Given the description of an element on the screen output the (x, y) to click on. 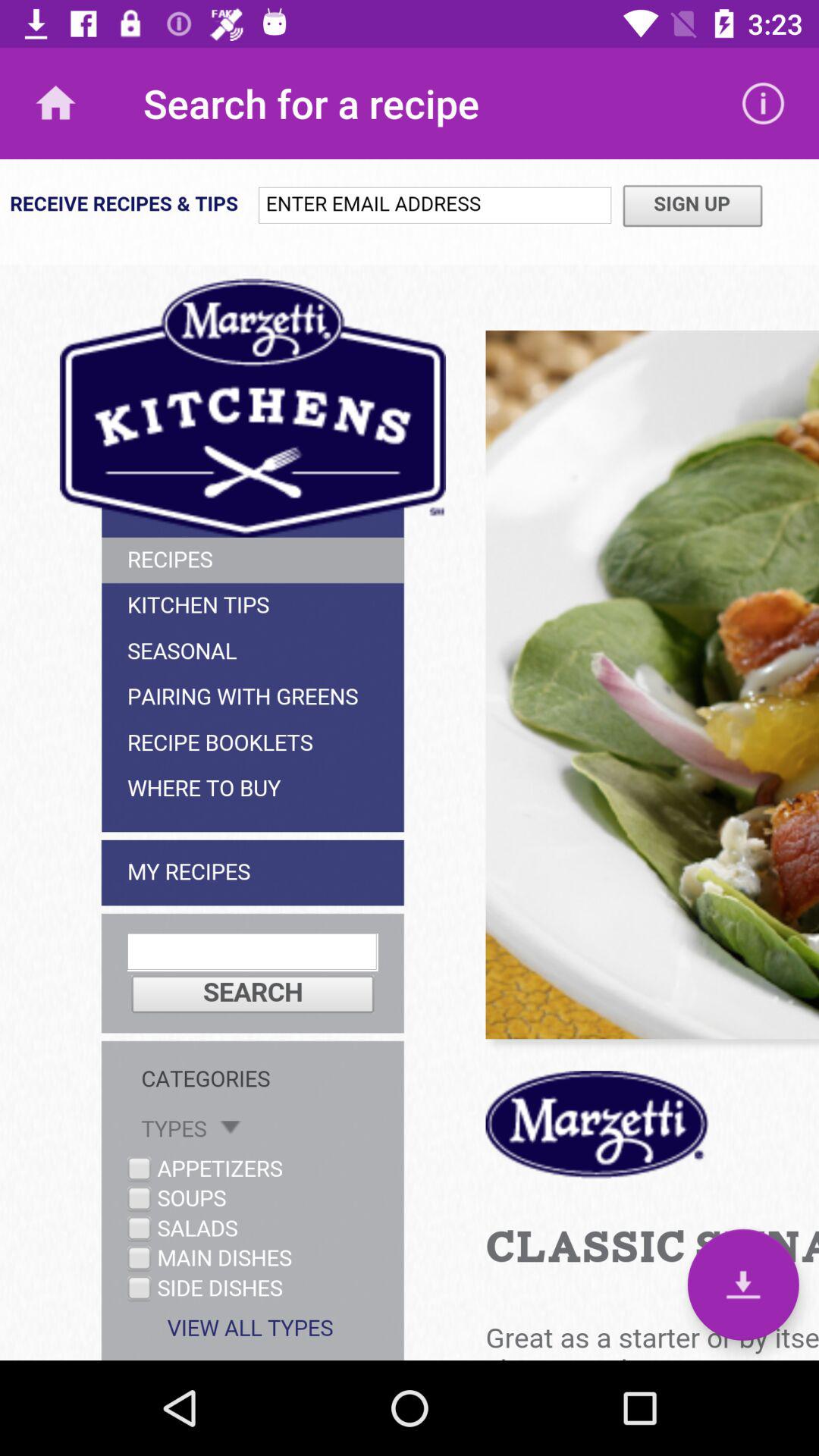
download (743, 1284)
